Given the description of an element on the screen output the (x, y) to click on. 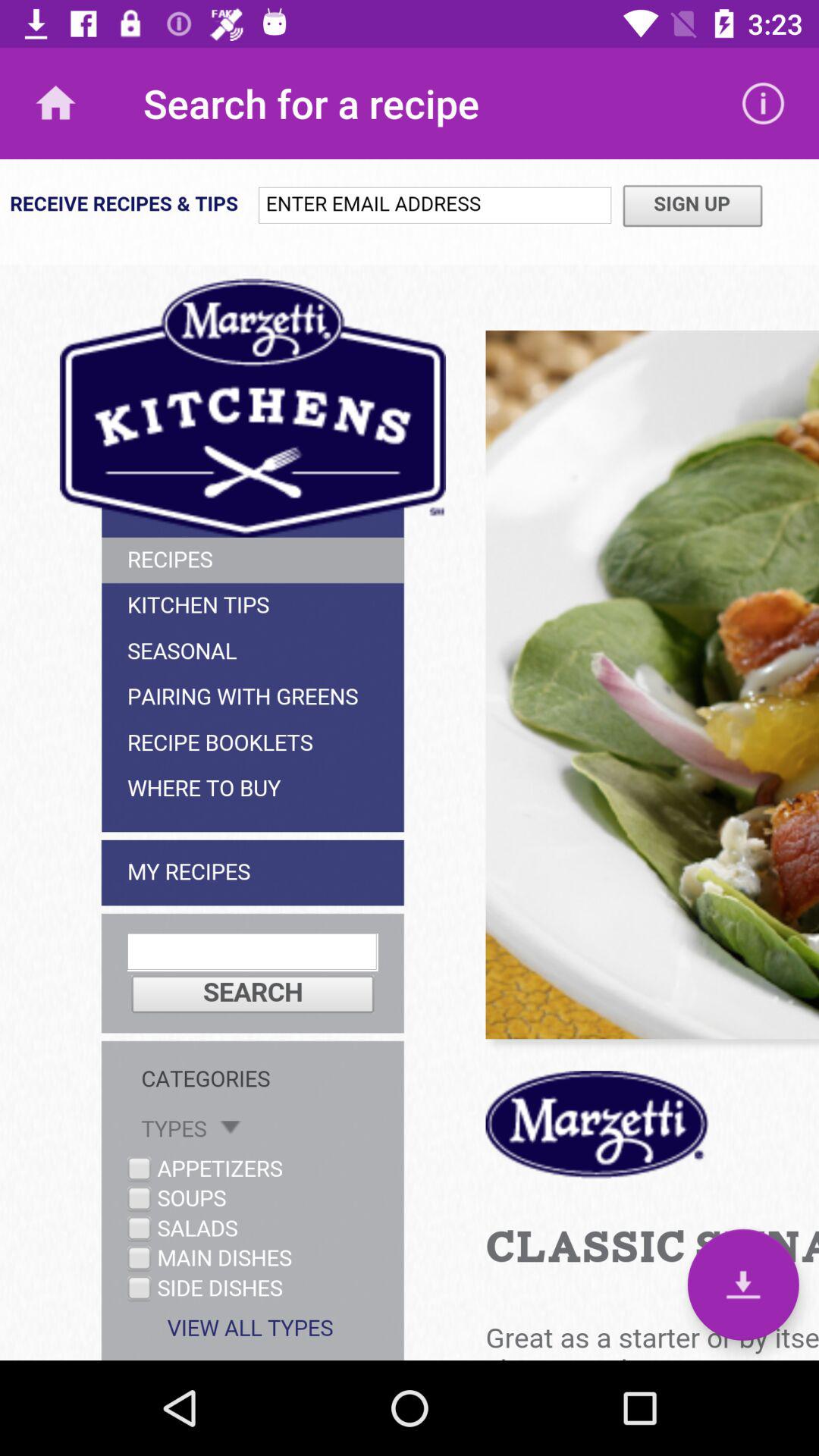
download (743, 1284)
